Given the description of an element on the screen output the (x, y) to click on. 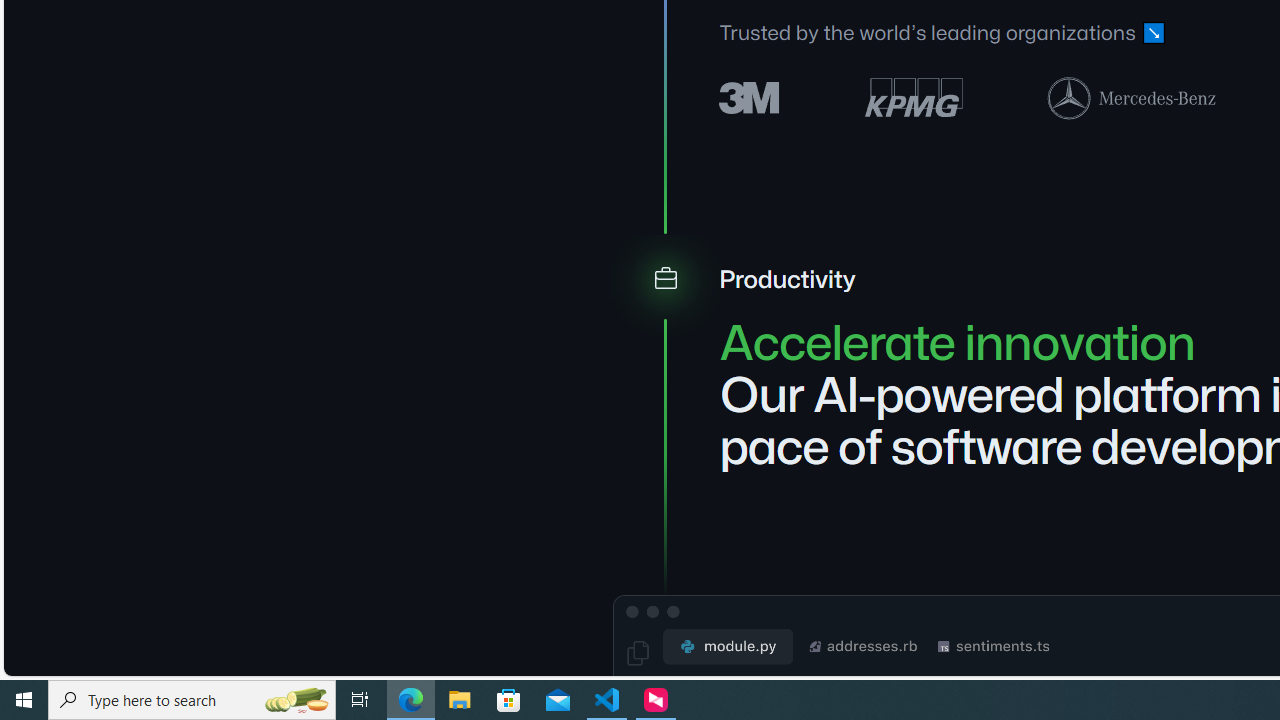
Mercedes-Benz logo (1132, 97)
KPMG logo (913, 97)
3M logo (749, 96)
